Given the description of an element on the screen output the (x, y) to click on. 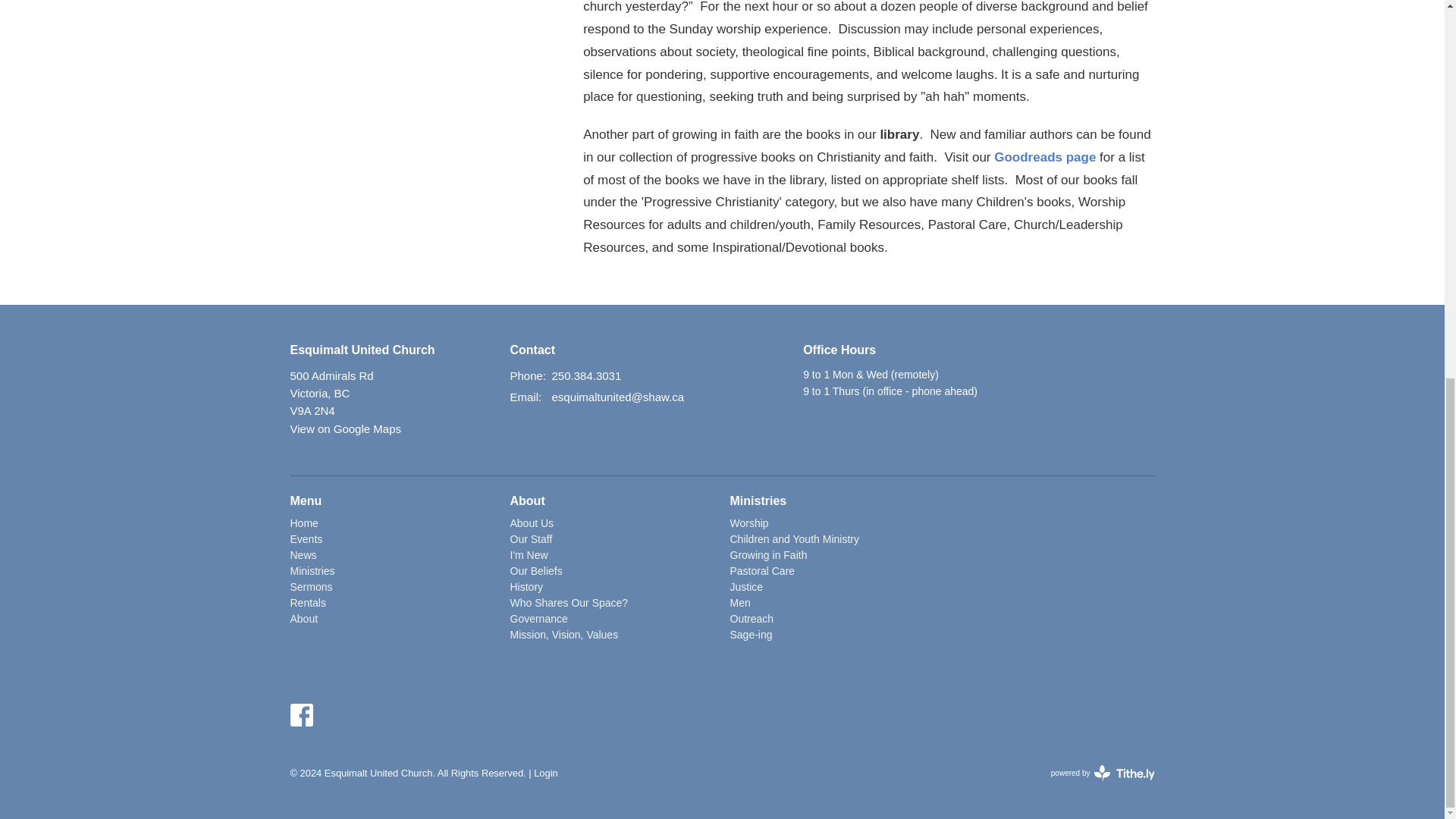
Sermons (310, 586)
Worship (748, 522)
Our Staff (530, 539)
translation missing: en.ui.email (523, 396)
Ministries (757, 500)
Ministries (311, 571)
Events (305, 539)
Governance (538, 618)
History (526, 586)
Who Shares Our Space? (568, 603)
